Given the description of an element on the screen output the (x, y) to click on. 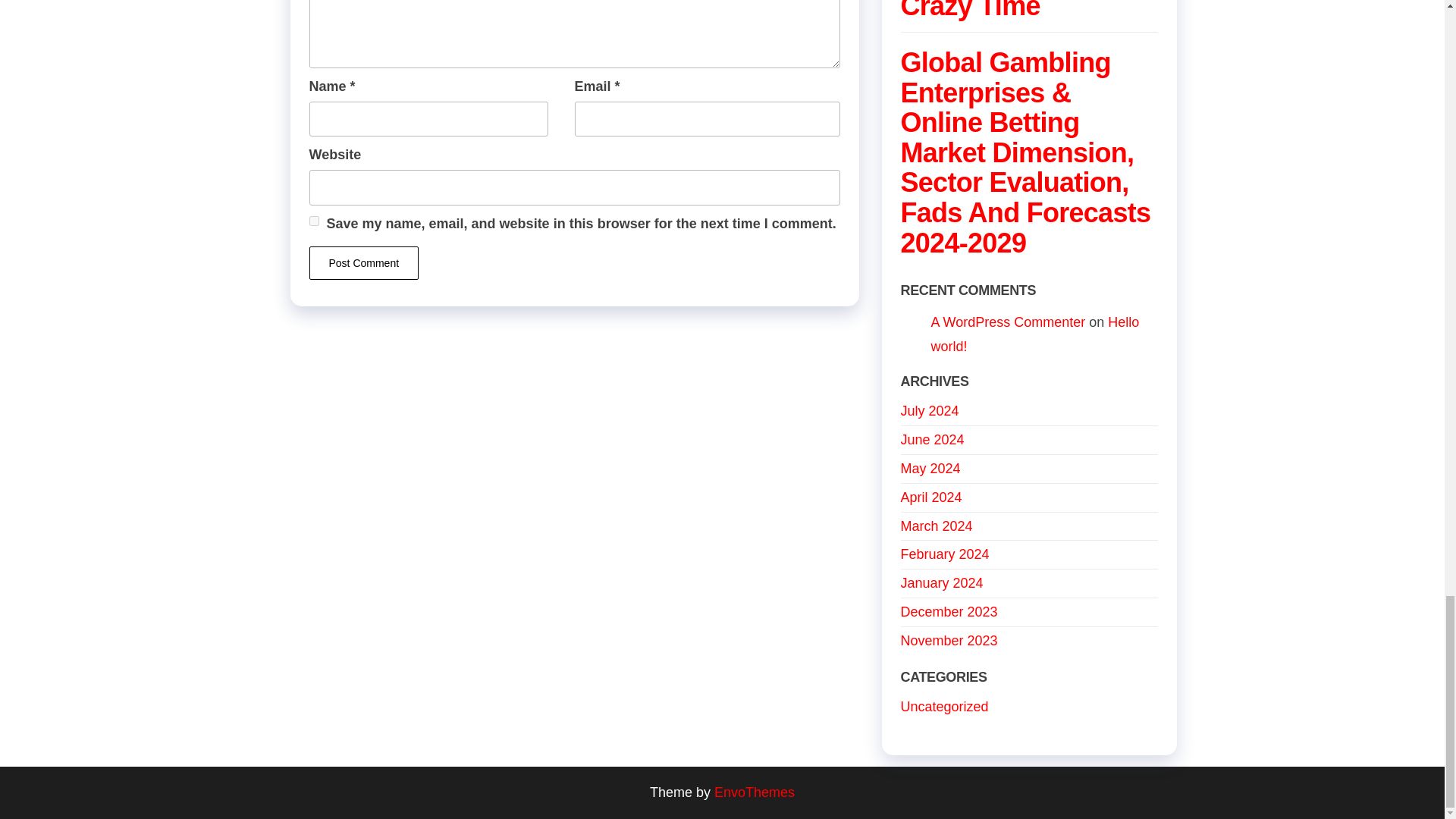
Post Comment (363, 263)
Post Comment (363, 263)
yes (313, 221)
